Given the description of an element on the screen output the (x, y) to click on. 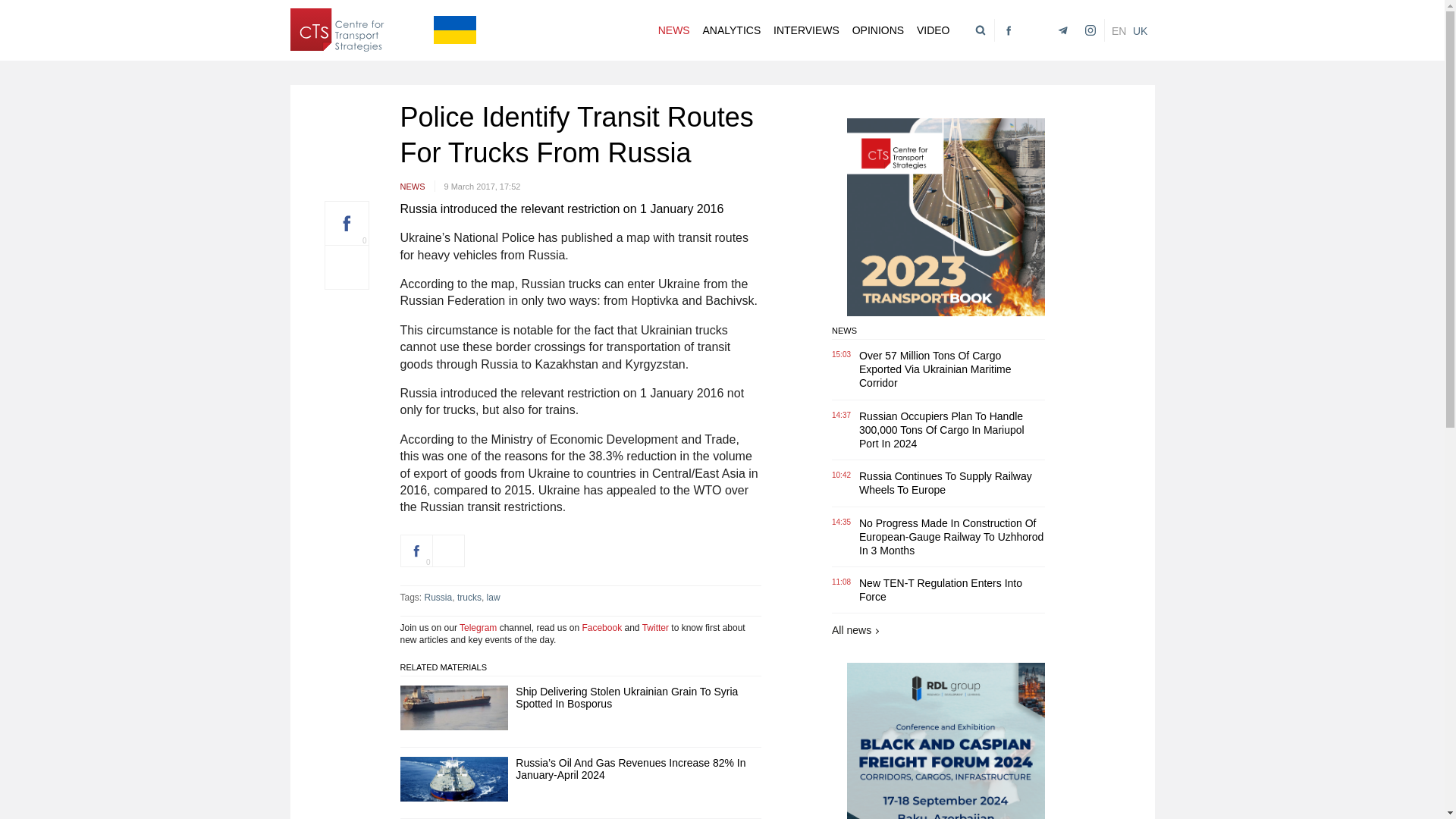
Russia (438, 597)
OPINIONS (877, 30)
trucks (469, 597)
17 July 2024, 11:08 (845, 582)
Instagram (1088, 29)
NEWS (417, 185)
18 July 2024, 10:42 (845, 475)
Twitter (1033, 29)
Twitter (655, 627)
18 July 2024, 14:37 (845, 415)
INTERVIEWS (806, 30)
ANALYTICS (730, 30)
Telegram (478, 627)
18 July 2024, 15:03 (845, 354)
